Given the description of an element on the screen output the (x, y) to click on. 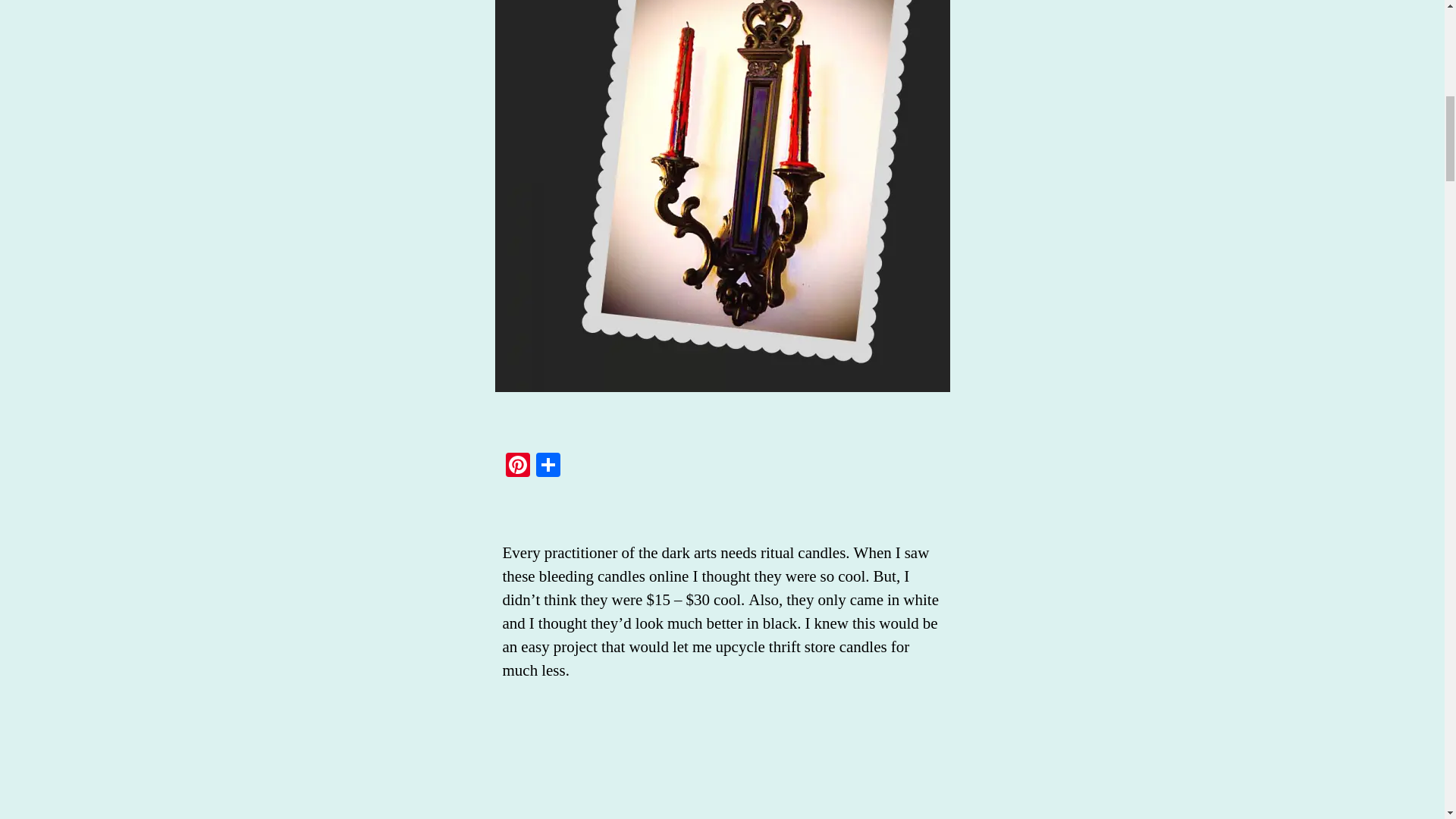
Pinterest (517, 466)
Pinterest (517, 466)
